Given the description of an element on the screen output the (x, y) to click on. 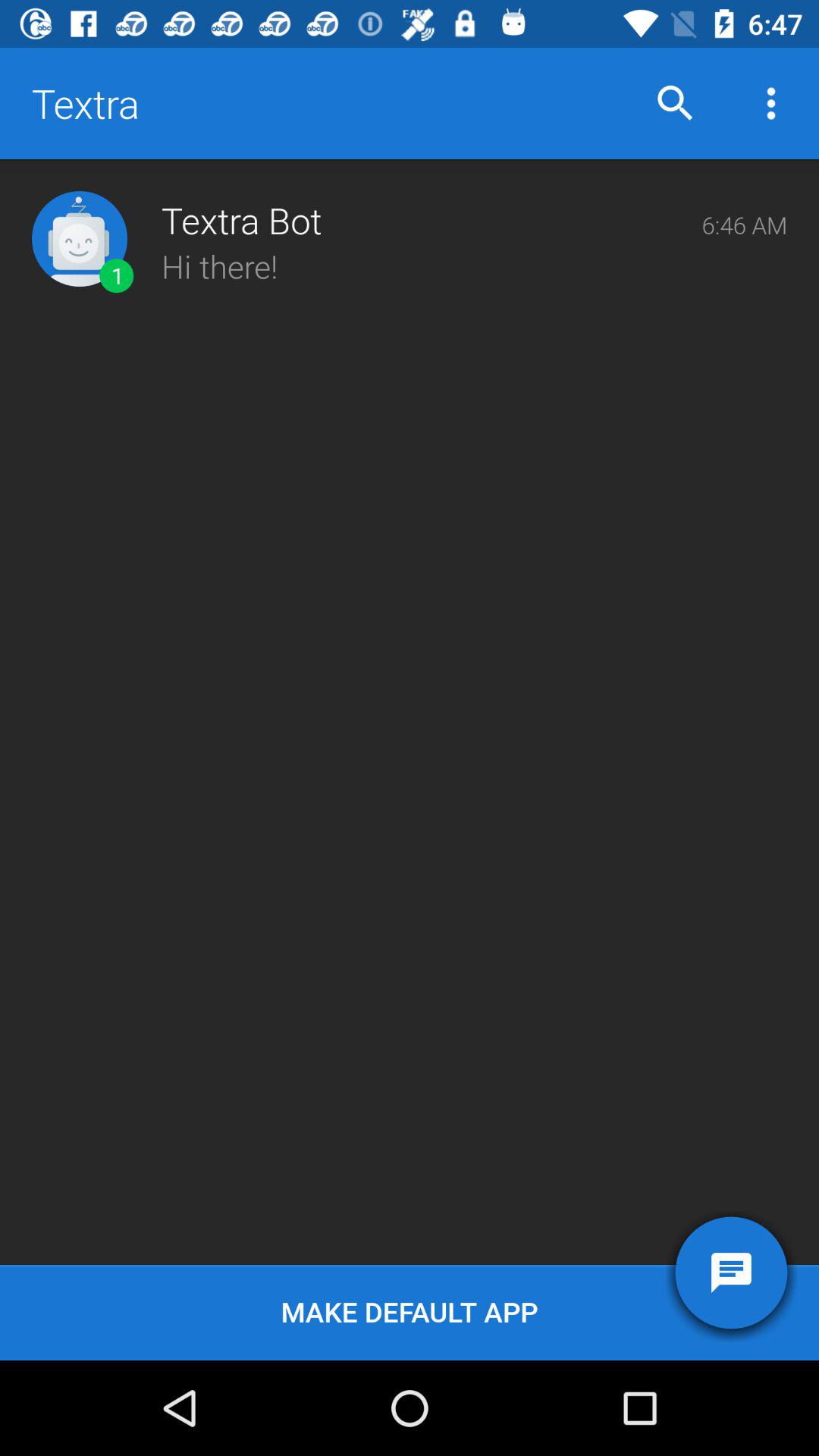
click item at the bottom right corner (731, 1272)
